Given the description of an element on the screen output the (x, y) to click on. 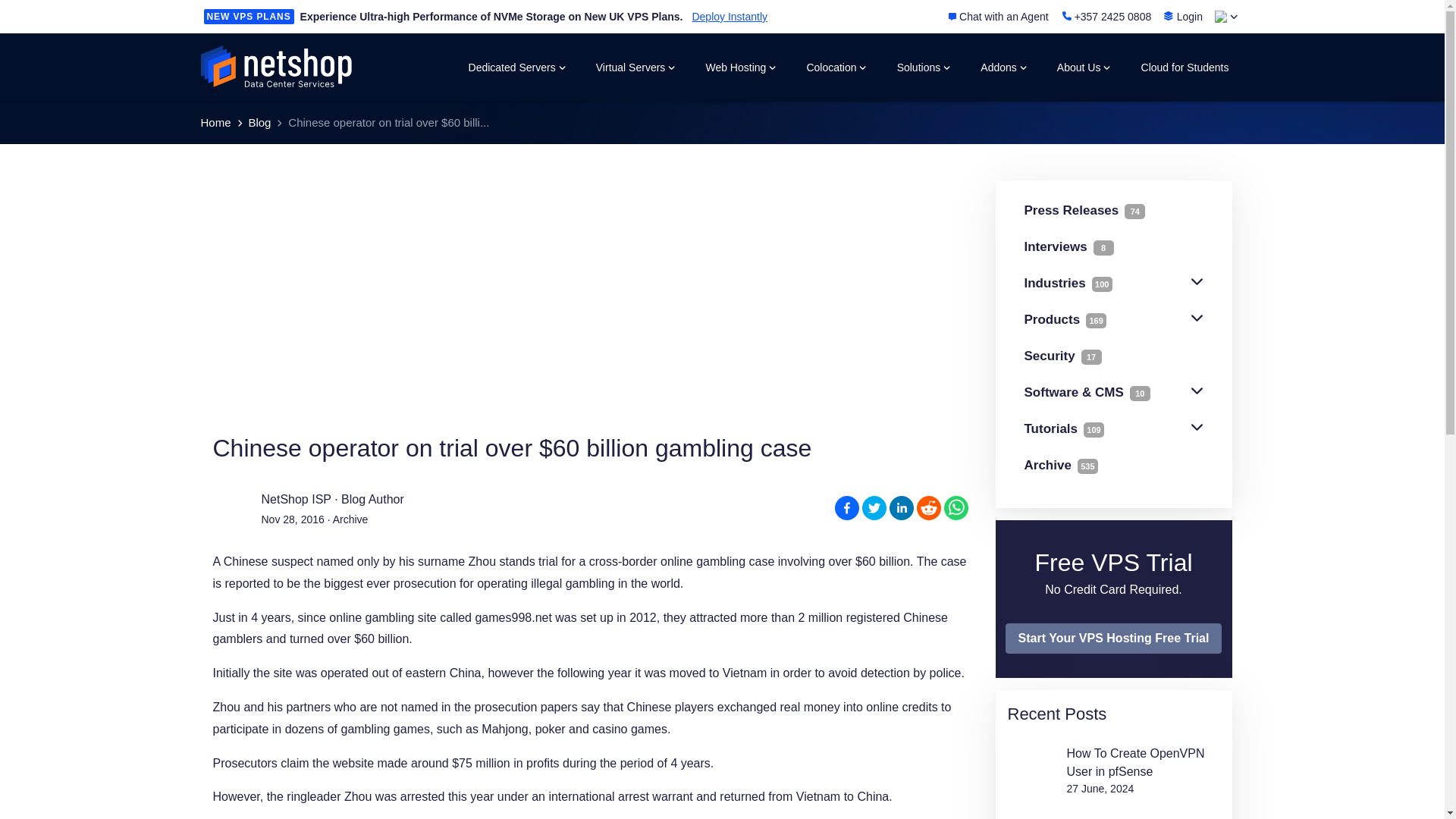
Deploy Instantly (729, 16)
Chat with an Agent (997, 16)
English (1220, 16)
Deploy Instantly (729, 16)
Login (1182, 15)
